Given the description of an element on the screen output the (x, y) to click on. 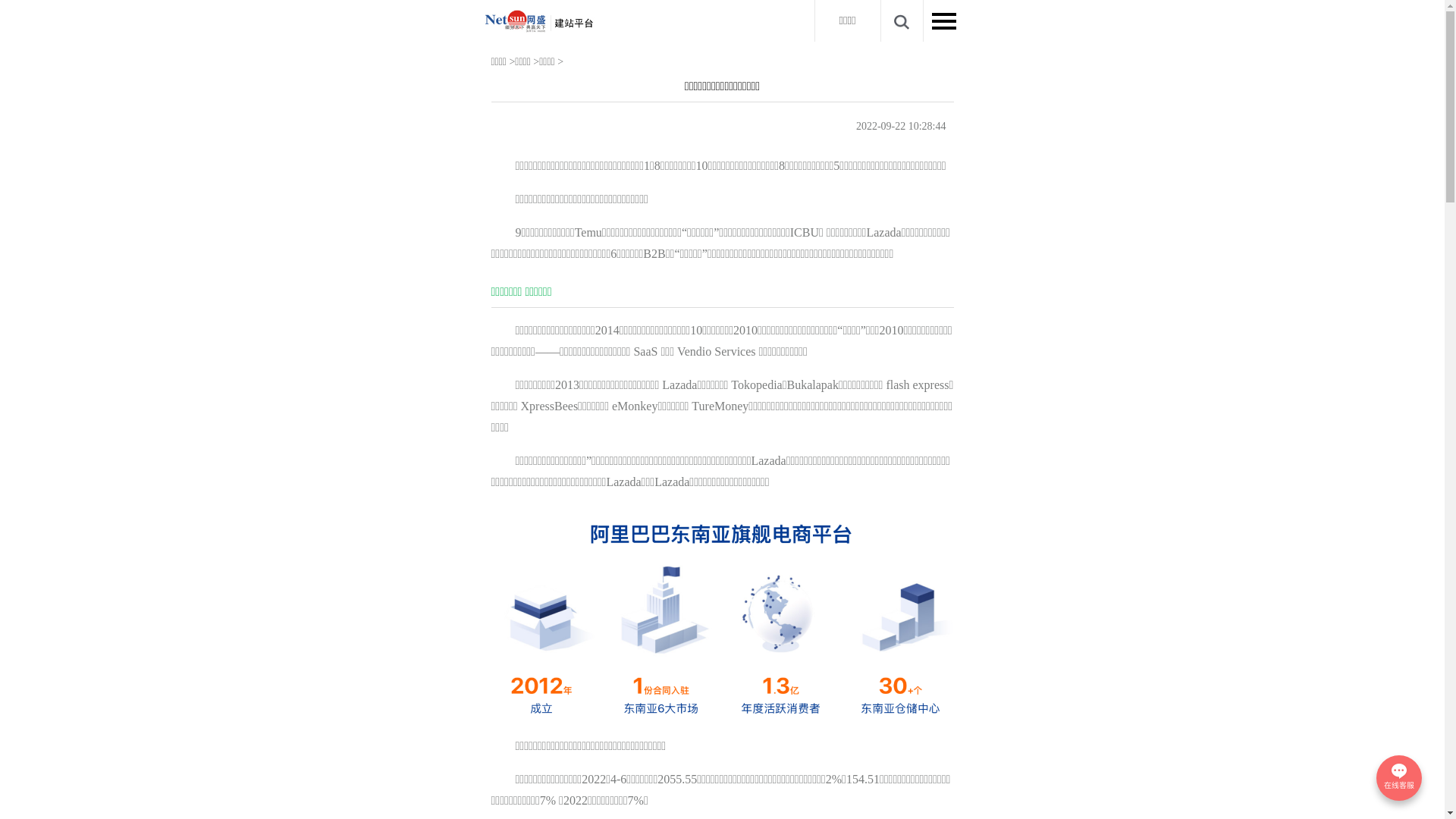
1663813567651819.png Element type: hover (722, 614)
